Given the description of an element on the screen output the (x, y) to click on. 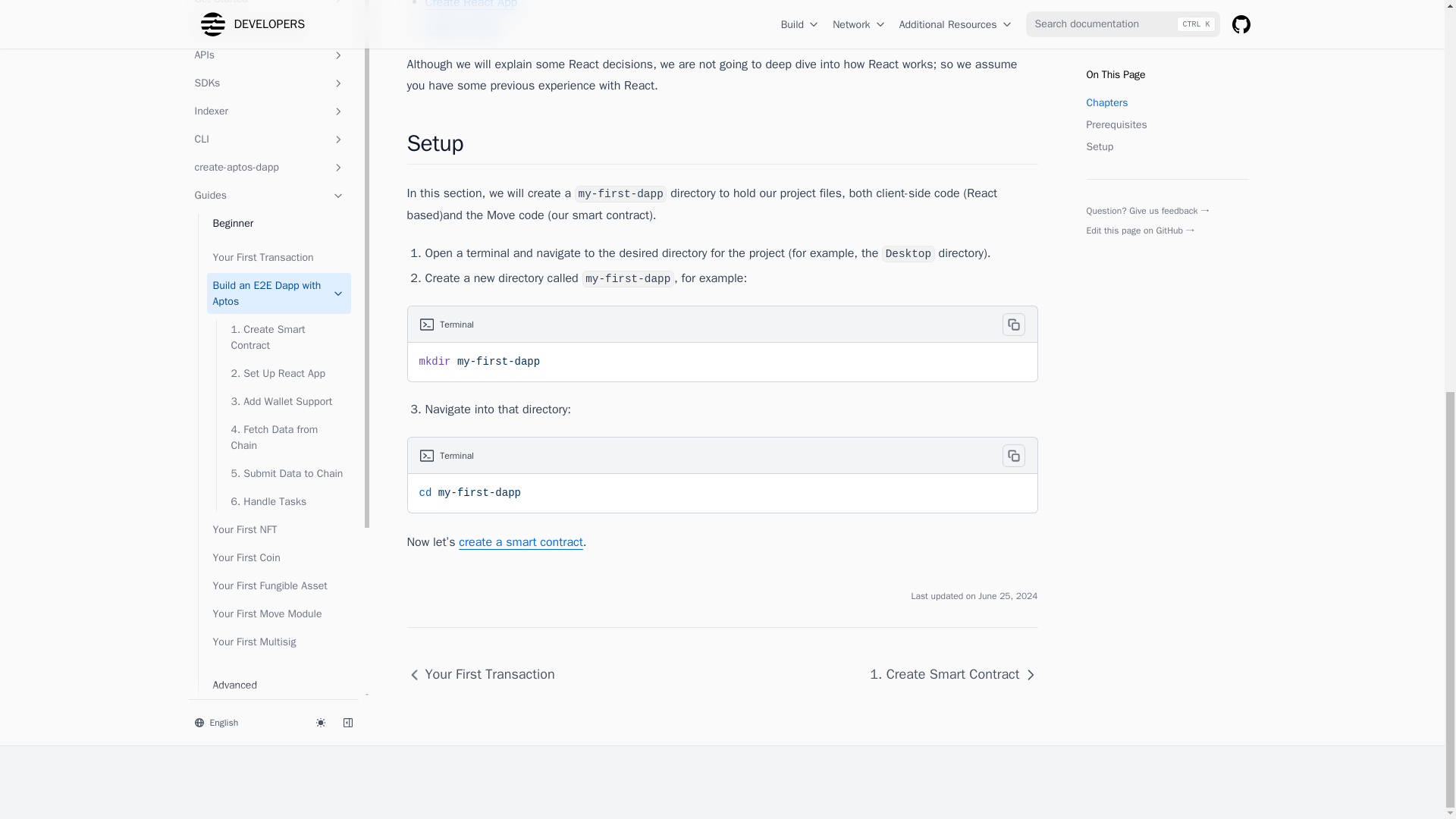
Your First Transaction (486, 673)
Hide sidebar (347, 45)
Change theme (319, 45)
1. Create Smart Contract (946, 673)
Change language (244, 45)
Copy code (1014, 323)
Copy code (1014, 455)
